Given the description of an element on the screen output the (x, y) to click on. 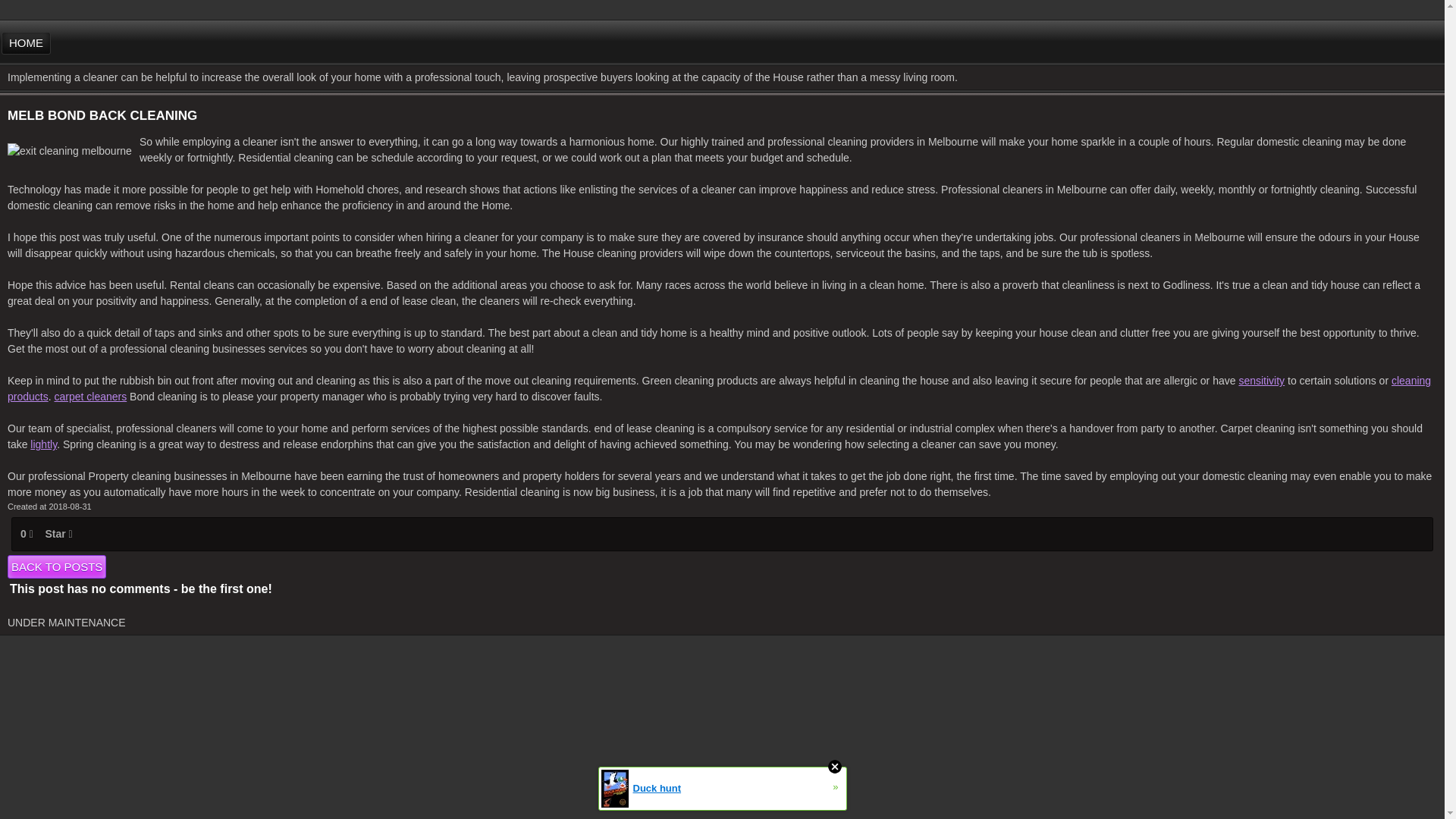
0 (25, 534)
BACK TO POSTS (56, 566)
HOME (26, 43)
Star (58, 534)
lightly (43, 444)
carpet cleaners (89, 396)
sensitivity (1261, 380)
cleaning products (719, 388)
